Given the description of an element on the screen output the (x, y) to click on. 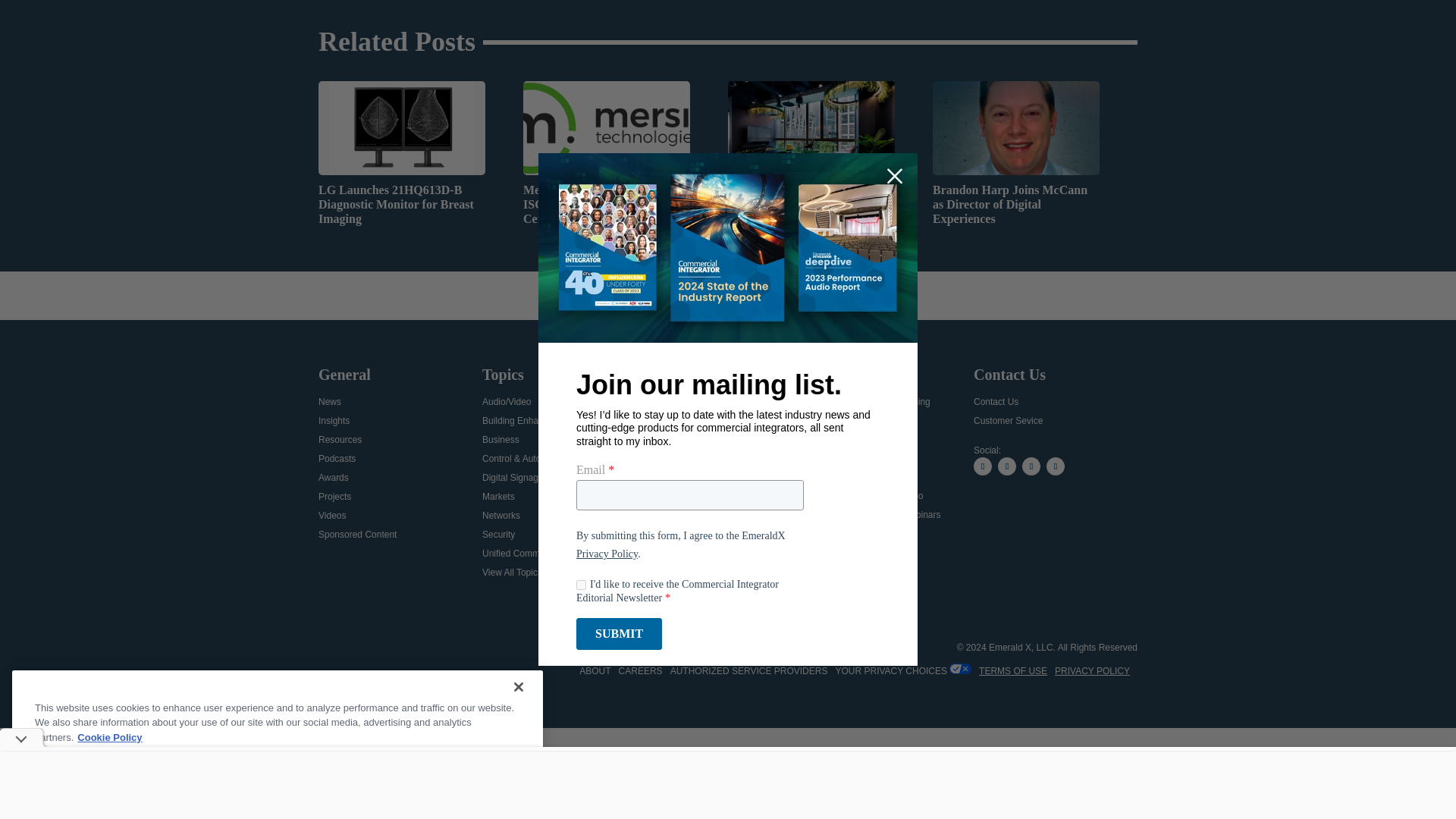
Follow on Facebook (1006, 466)
Follow on LinkedIn (1031, 466)
Follow on Youtube (1055, 466)
Follow on X (982, 466)
